Given the description of an element on the screen output the (x, y) to click on. 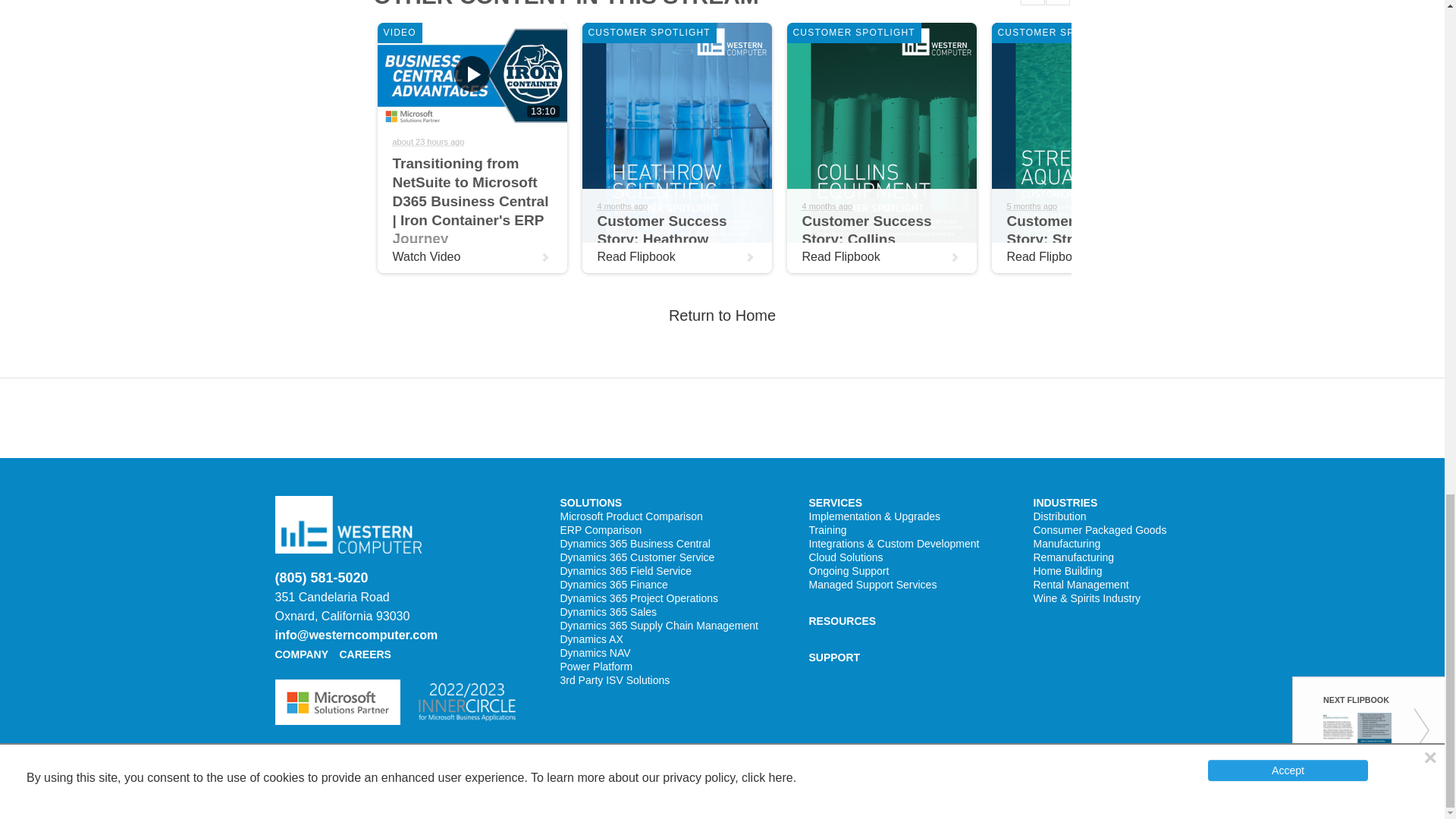
2024-03-25T12:56:16 (827, 205)
2024-02-15T13:46:21 (1032, 205)
2024-07-16T14:53:55 (428, 141)
2024-04-02T11:17:08 (621, 205)
